Given the description of an element on the screen output the (x, y) to click on. 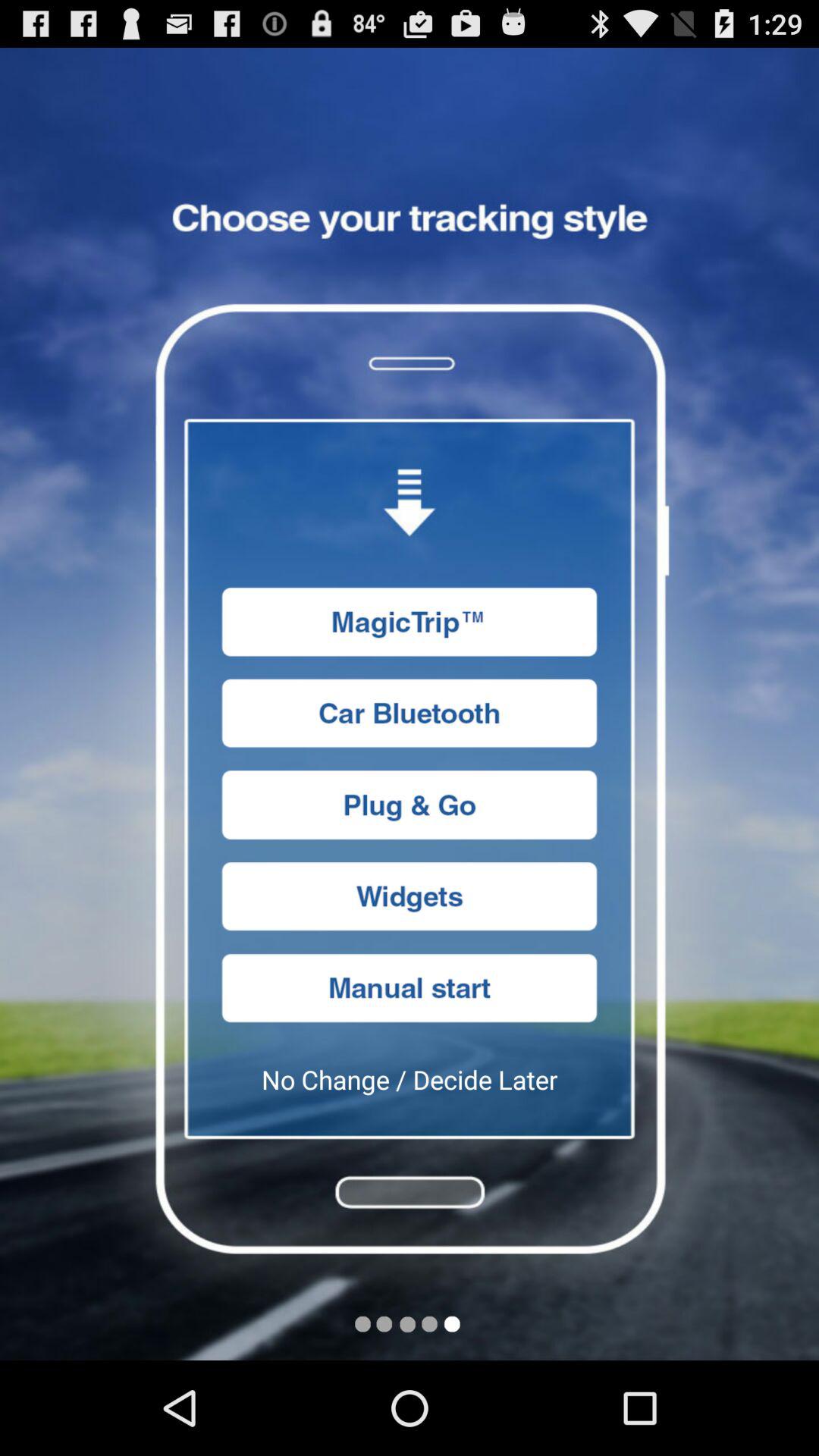
toggle widgets (409, 896)
